Given the description of an element on the screen output the (x, y) to click on. 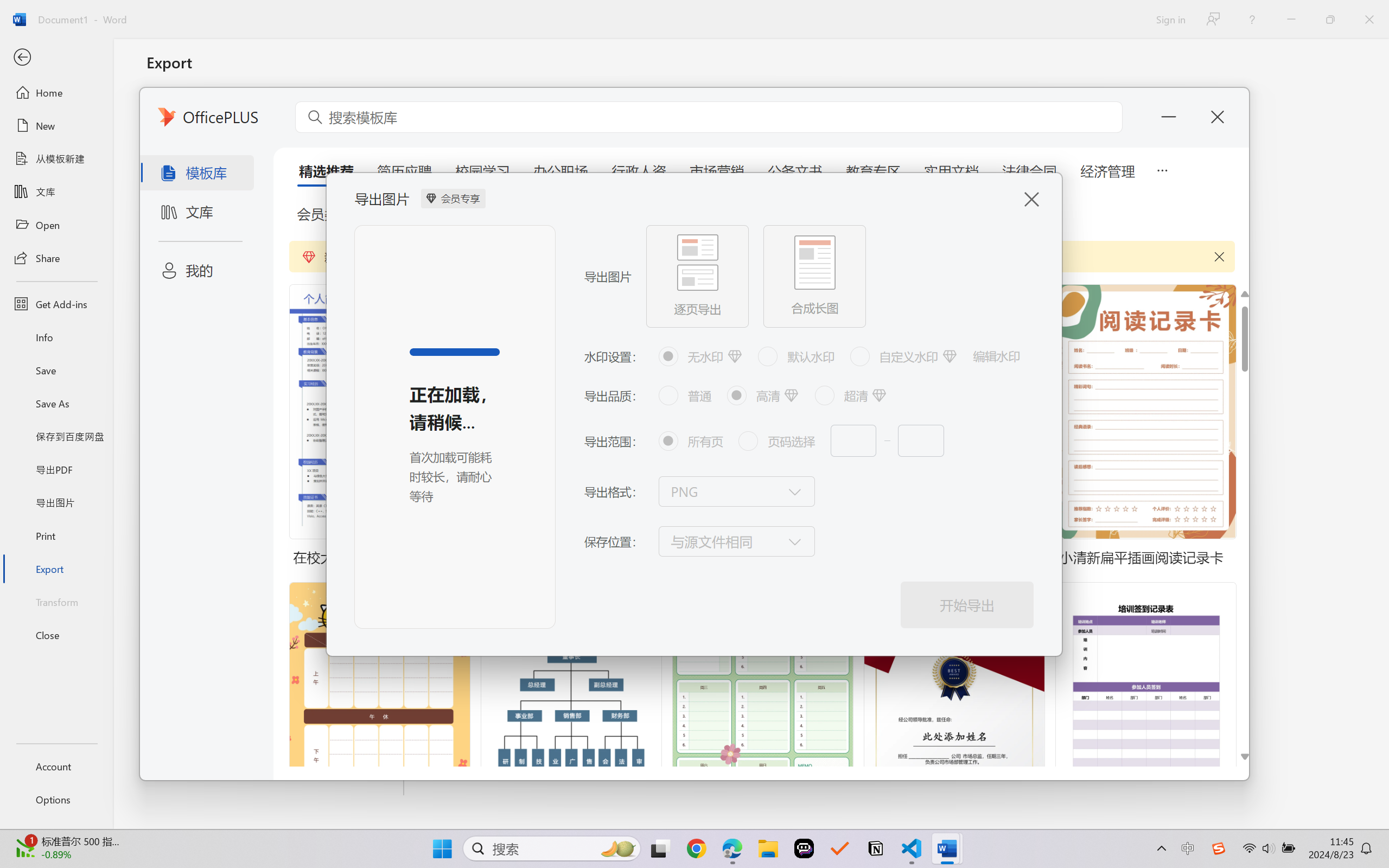
Sign in (1170, 18)
Print (56, 535)
Create PDF/XPS Document (275, 110)
Get Add-ins (56, 303)
